Given the description of an element on the screen output the (x, y) to click on. 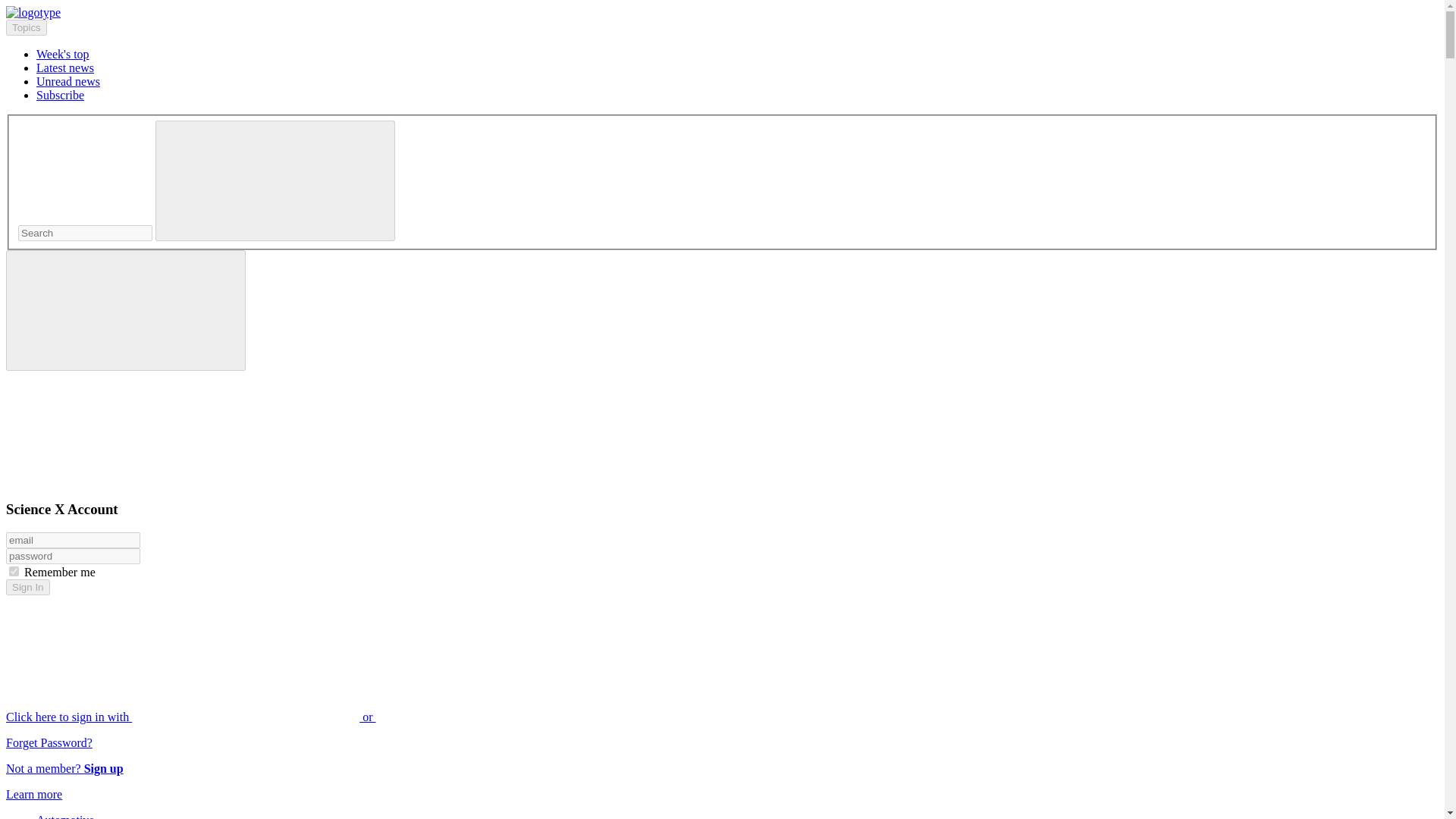
Week's top (62, 53)
Topics (25, 27)
Learn more (33, 793)
Unread news (68, 81)
Forget Password? (49, 742)
Click here to sign in with or (304, 716)
Subscribe (60, 94)
Sign In (27, 587)
on (13, 571)
Latest news (65, 67)
Not a member? Sign up (64, 768)
Automotive (65, 816)
